Given the description of an element on the screen output the (x, y) to click on. 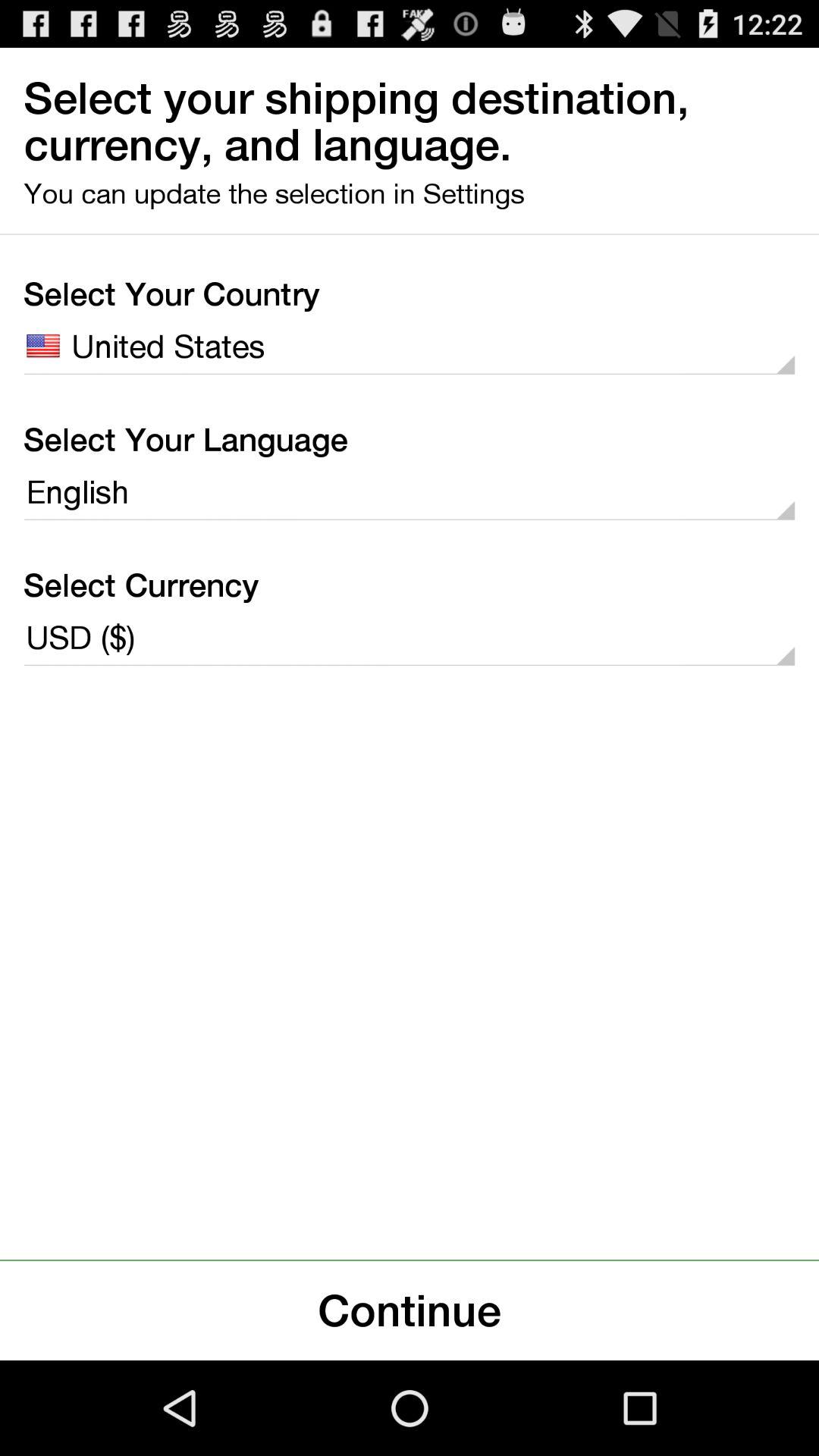
flip to the continue (409, 1310)
